Given the description of an element on the screen output the (x, y) to click on. 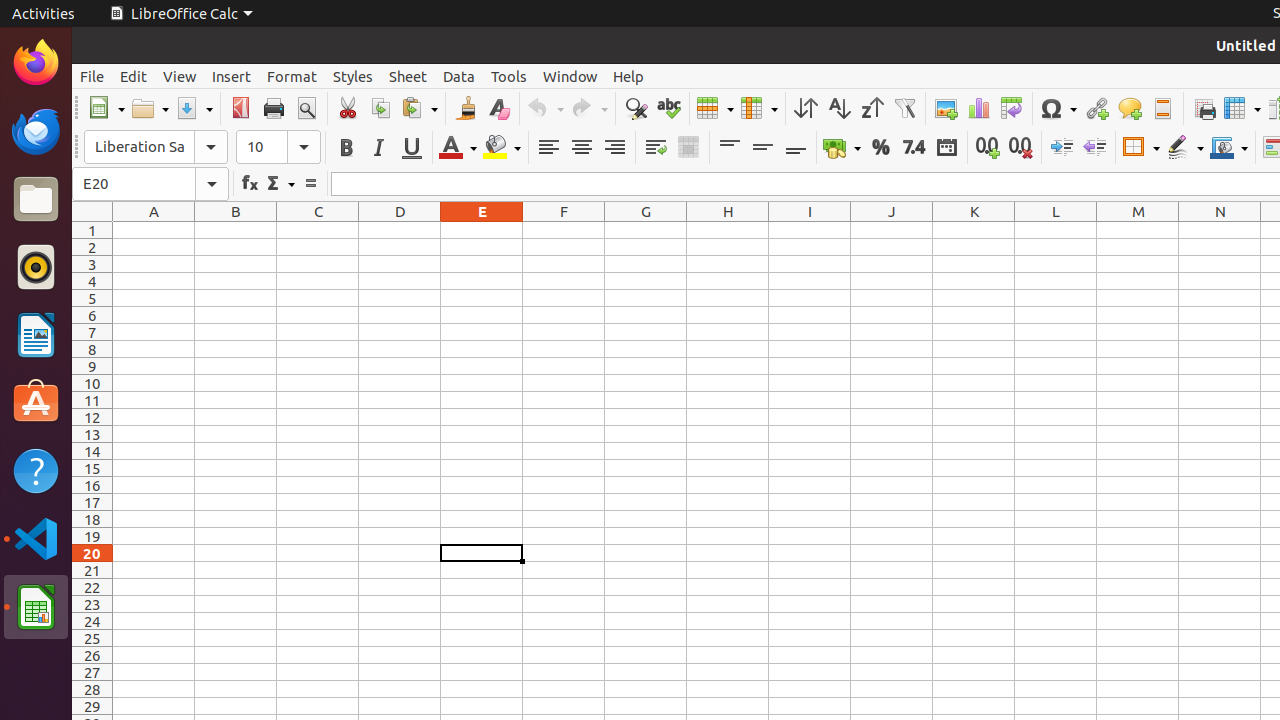
Italic Element type: toggle-button (378, 147)
Insert Element type: menu (231, 76)
Format Element type: menu (292, 76)
Border Color Element type: push-button (1229, 147)
Font Color Element type: push-button (458, 147)
